Given the description of an element on the screen output the (x, y) to click on. 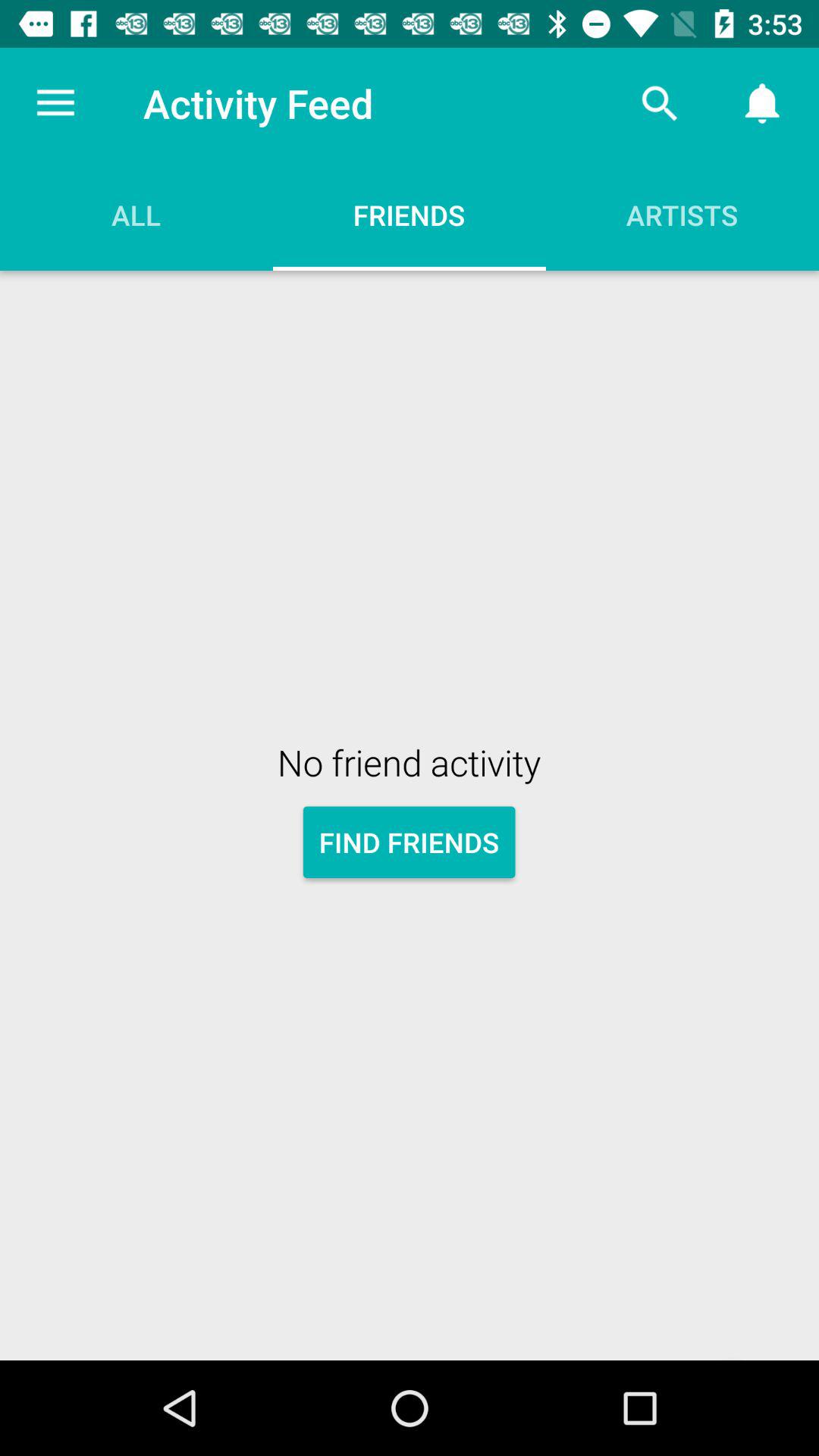
press the item above all (55, 103)
